Given the description of an element on the screen output the (x, y) to click on. 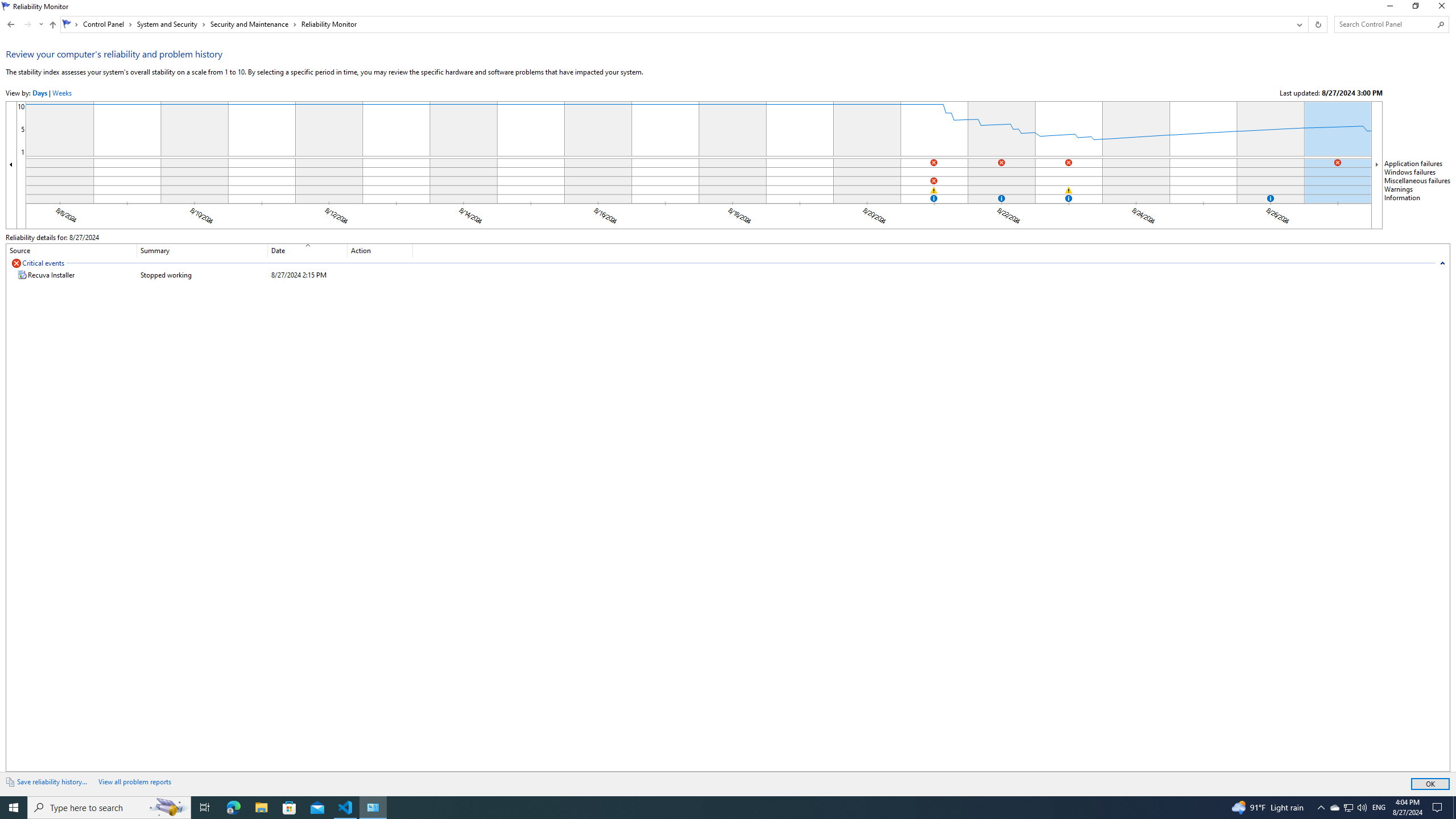
ScrollRight (1376, 164)
Navigation buttons (24, 23)
Tray Input Indicator - English (United States) (1378, 807)
OK (1430, 783)
Back to Security and Maintenance (Alt + Left Arrow) (10, 23)
System (6, 6)
Reliability Monitor (328, 23)
ScrollLeft (10, 164)
